Given the description of an element on the screen output the (x, y) to click on. 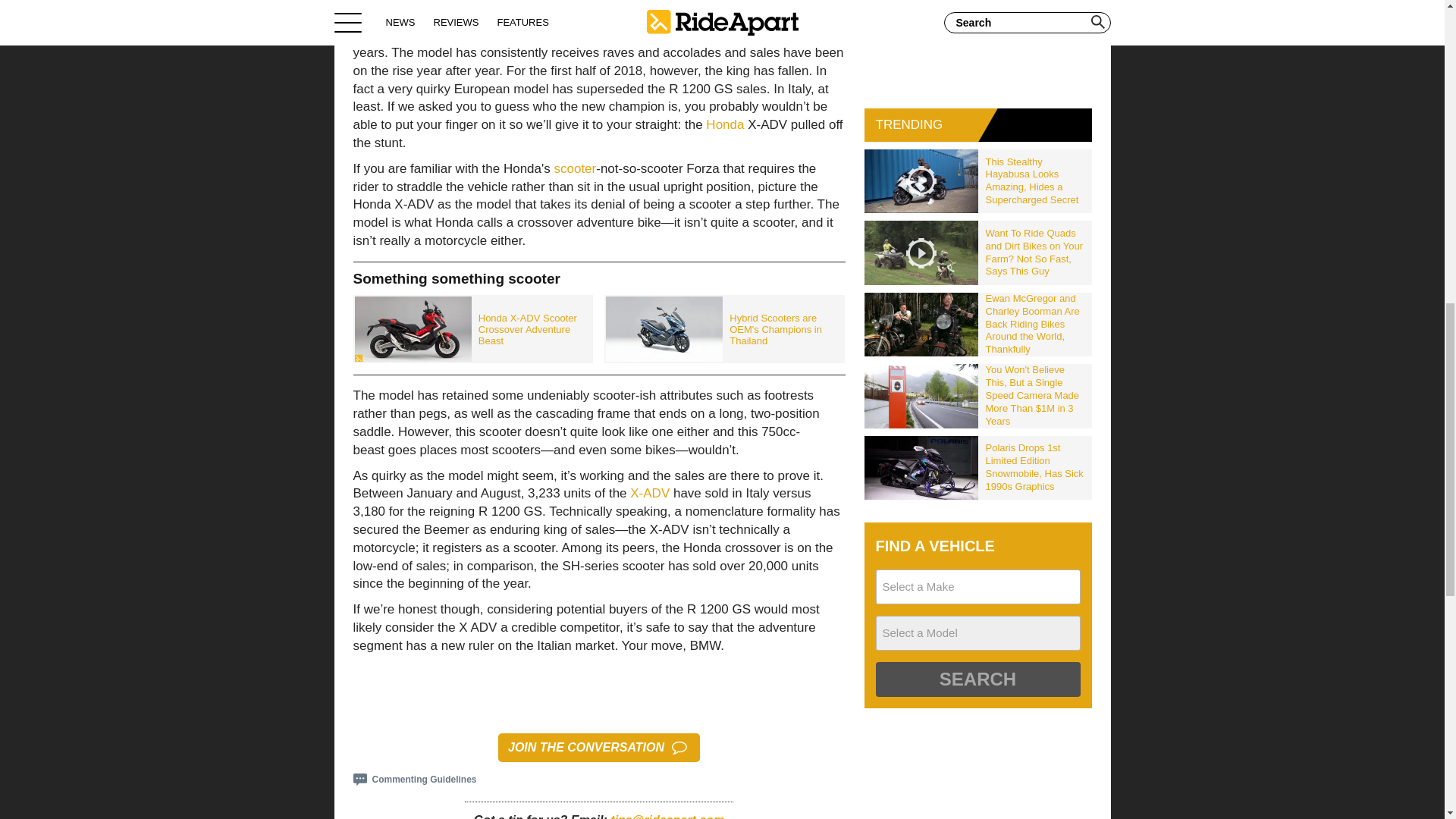
BMW (394, 34)
Search (977, 678)
X-ADV (649, 493)
Commenting Guidelines (415, 778)
JOIN THE CONVERSATION (598, 747)
scooter (574, 168)
Honda (725, 124)
